Given the description of an element on the screen output the (x, y) to click on. 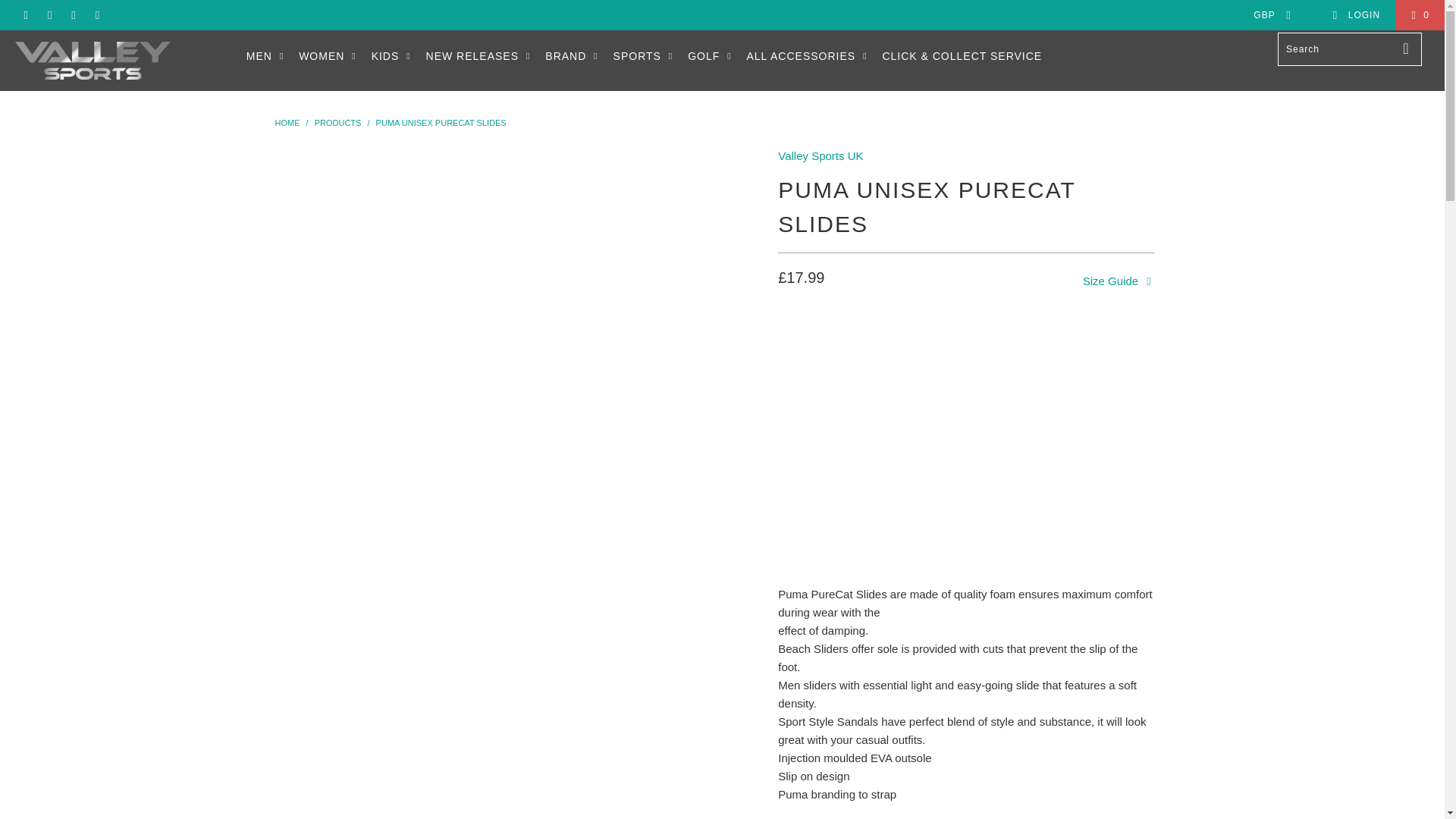
Valley Sports UK on Twitter (25, 14)
My Account  (1355, 15)
Valley Sports UK on Pinterest (73, 14)
Valley Sports UK on Facebook (48, 14)
Valley Sports UK (820, 154)
Products (337, 122)
Valley Sports UK (122, 60)
Valley Sports UK (287, 122)
Valley Sports UK on Instagram (96, 14)
